Given the description of an element on the screen output the (x, y) to click on. 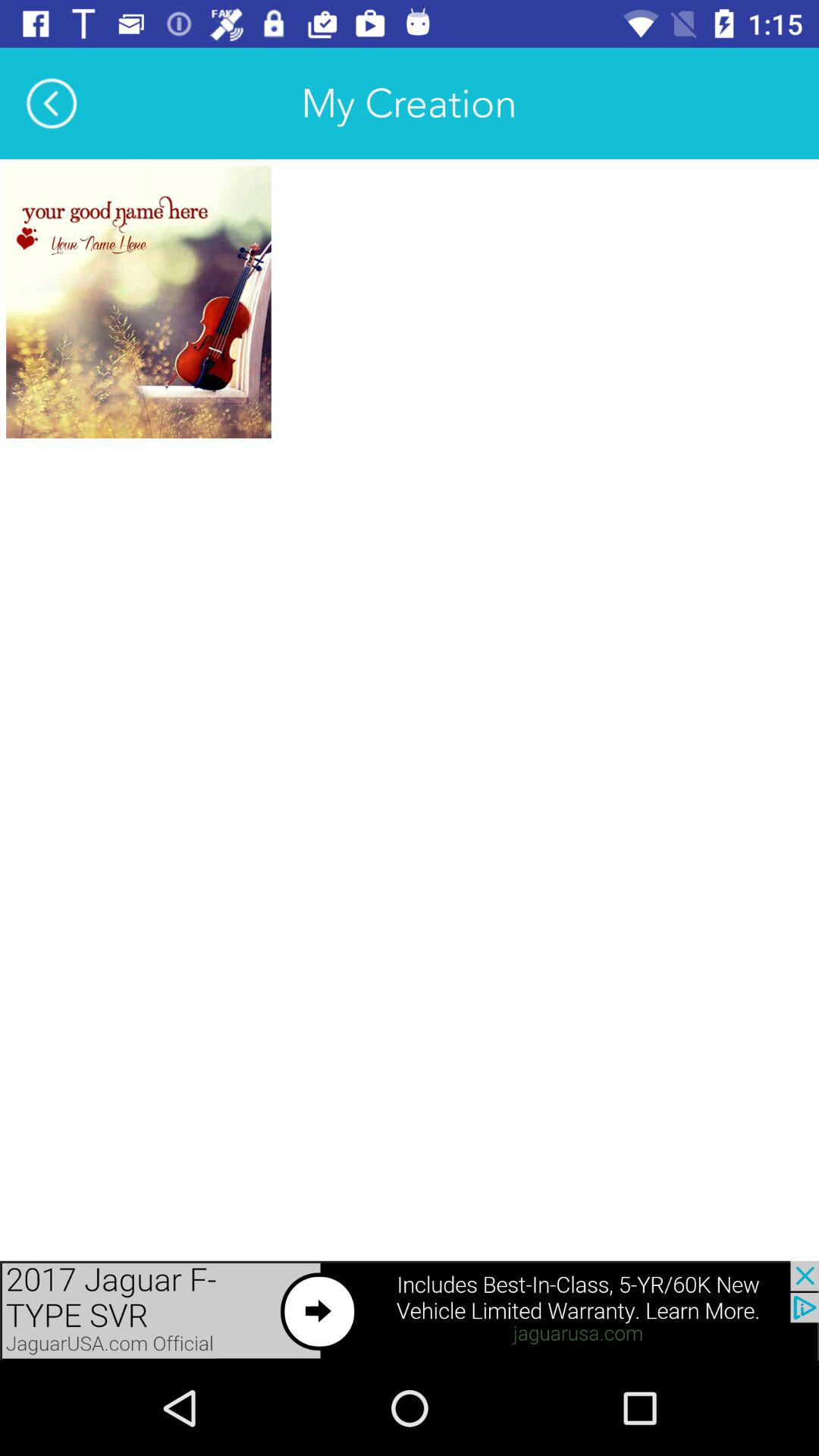
to go orevuius (409, 1310)
